Given the description of an element on the screen output the (x, y) to click on. 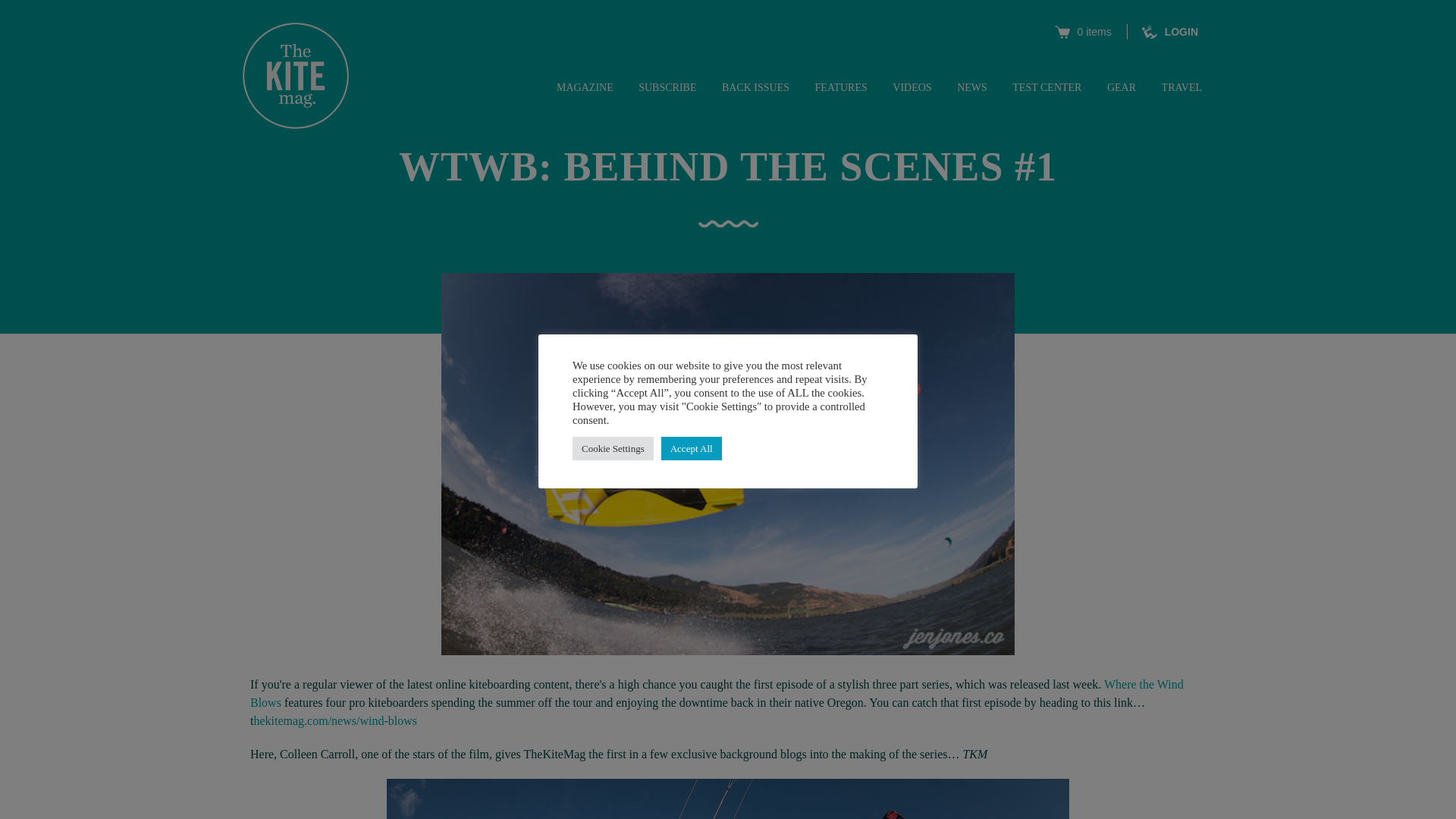
SUBSCRIBE (667, 87)
TRAVEL (1181, 87)
GEAR (1120, 87)
LOGIN (1169, 31)
0 items (1083, 31)
NEWS (971, 87)
VIDEOS (911, 87)
FEATURES (841, 87)
MAGAZINE (584, 87)
TEST CENTER (1046, 87)
BACK ISSUES (755, 87)
Where the Wind Blows (716, 693)
Cart View (1083, 31)
